Given the description of an element on the screen output the (x, y) to click on. 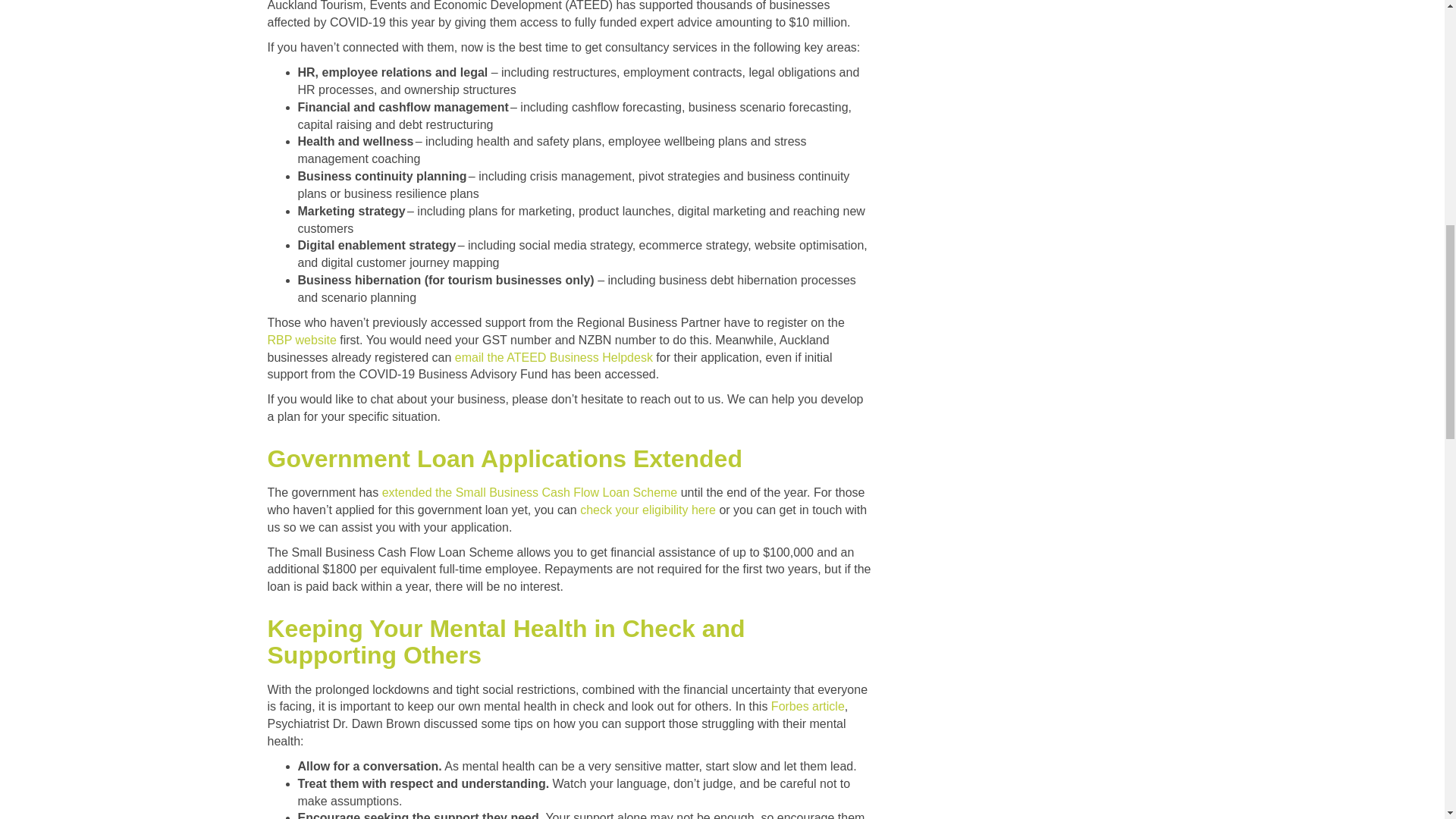
Forbes article (807, 706)
extended the Small Business Cash Flow Loan Scheme (529, 492)
RBP website (301, 339)
check your eligibility here (647, 509)
email the ATEED Business Helpdesk (553, 356)
